Given the description of an element on the screen output the (x, y) to click on. 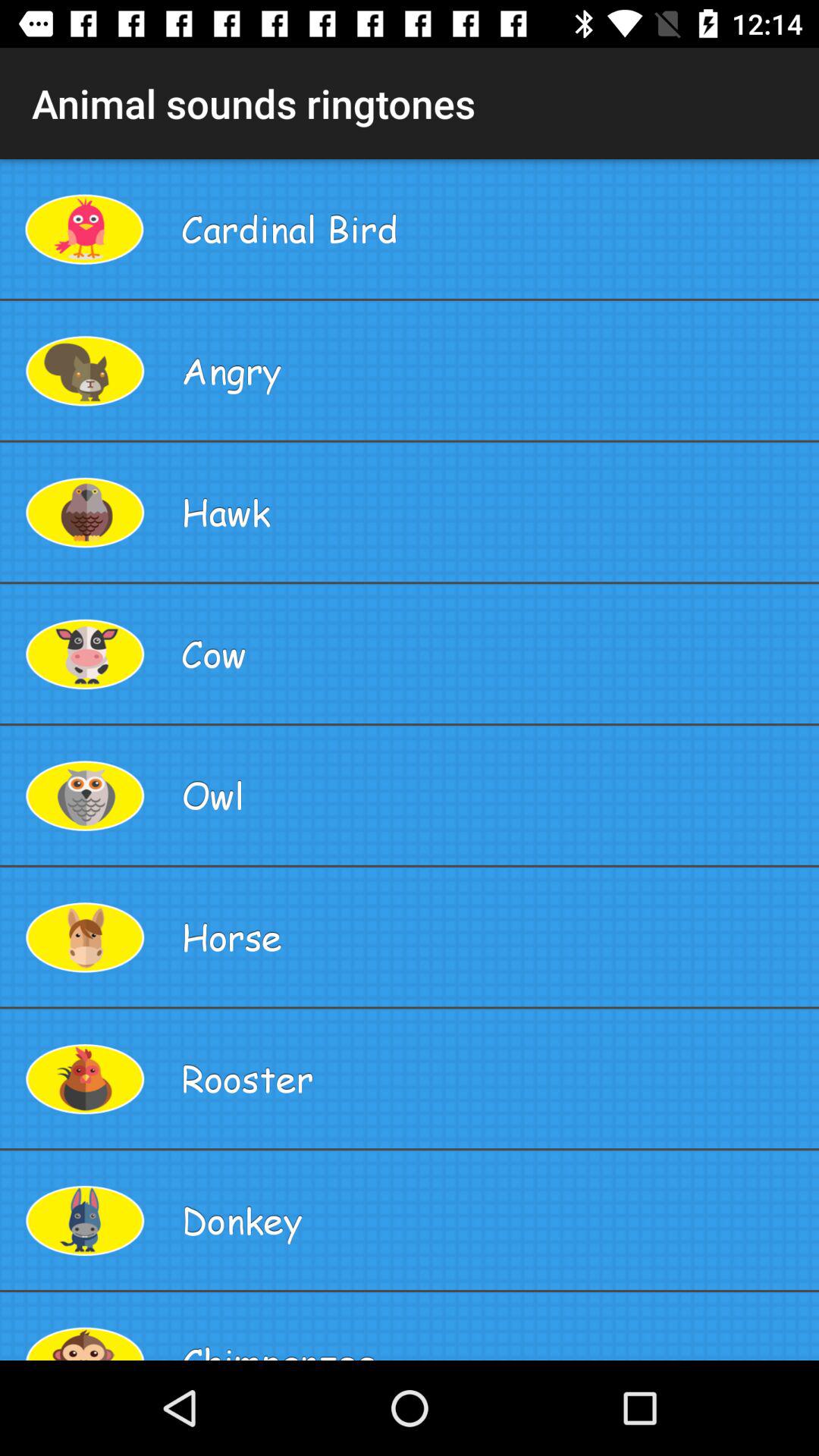
turn on the item below the animal sounds ringtones item (494, 228)
